Given the description of an element on the screen output the (x, y) to click on. 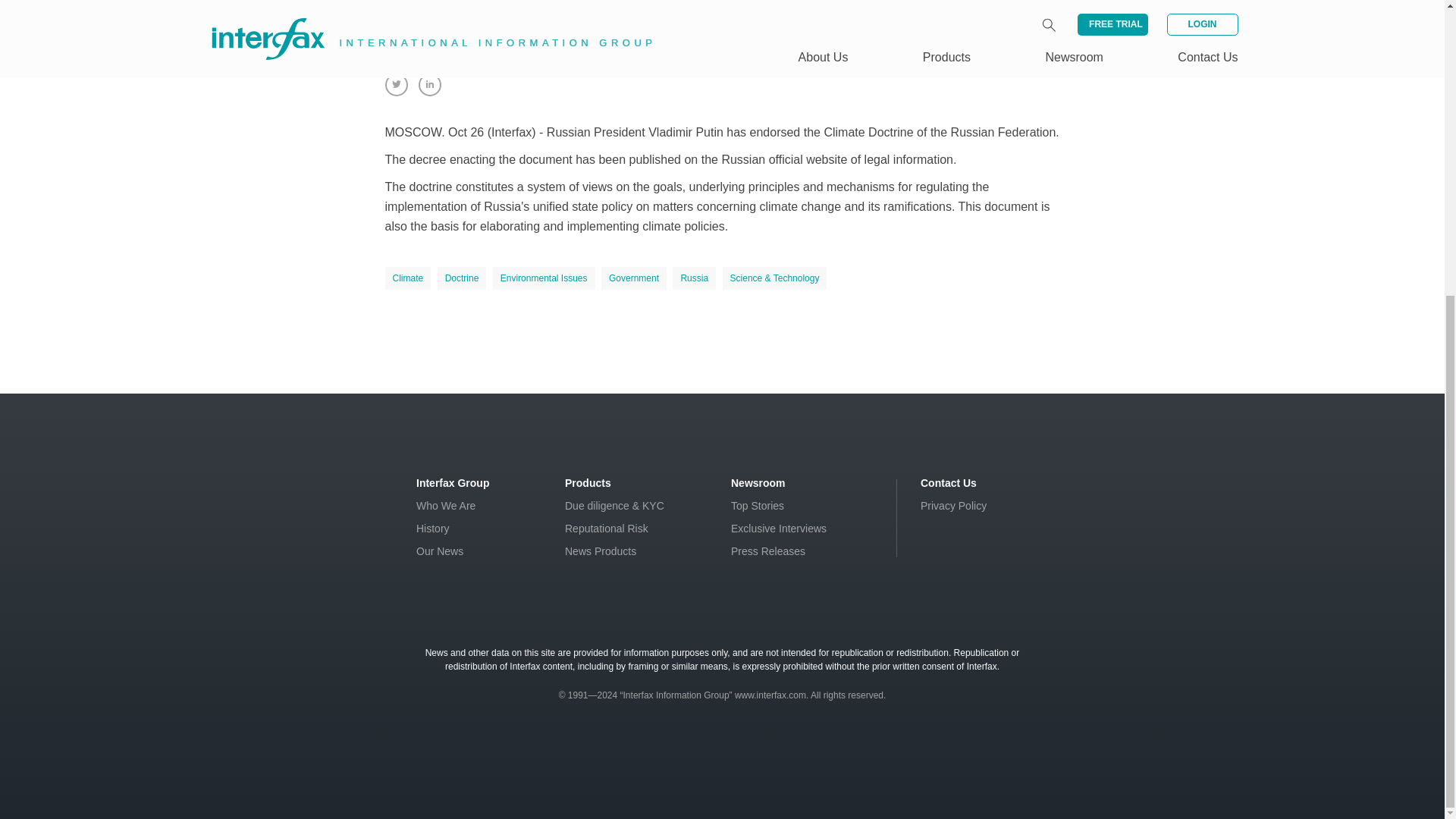
Doctrine (462, 277)
Climate (407, 277)
Government (633, 277)
Environmental Issues (544, 277)
